Given the description of an element on the screen output the (x, y) to click on. 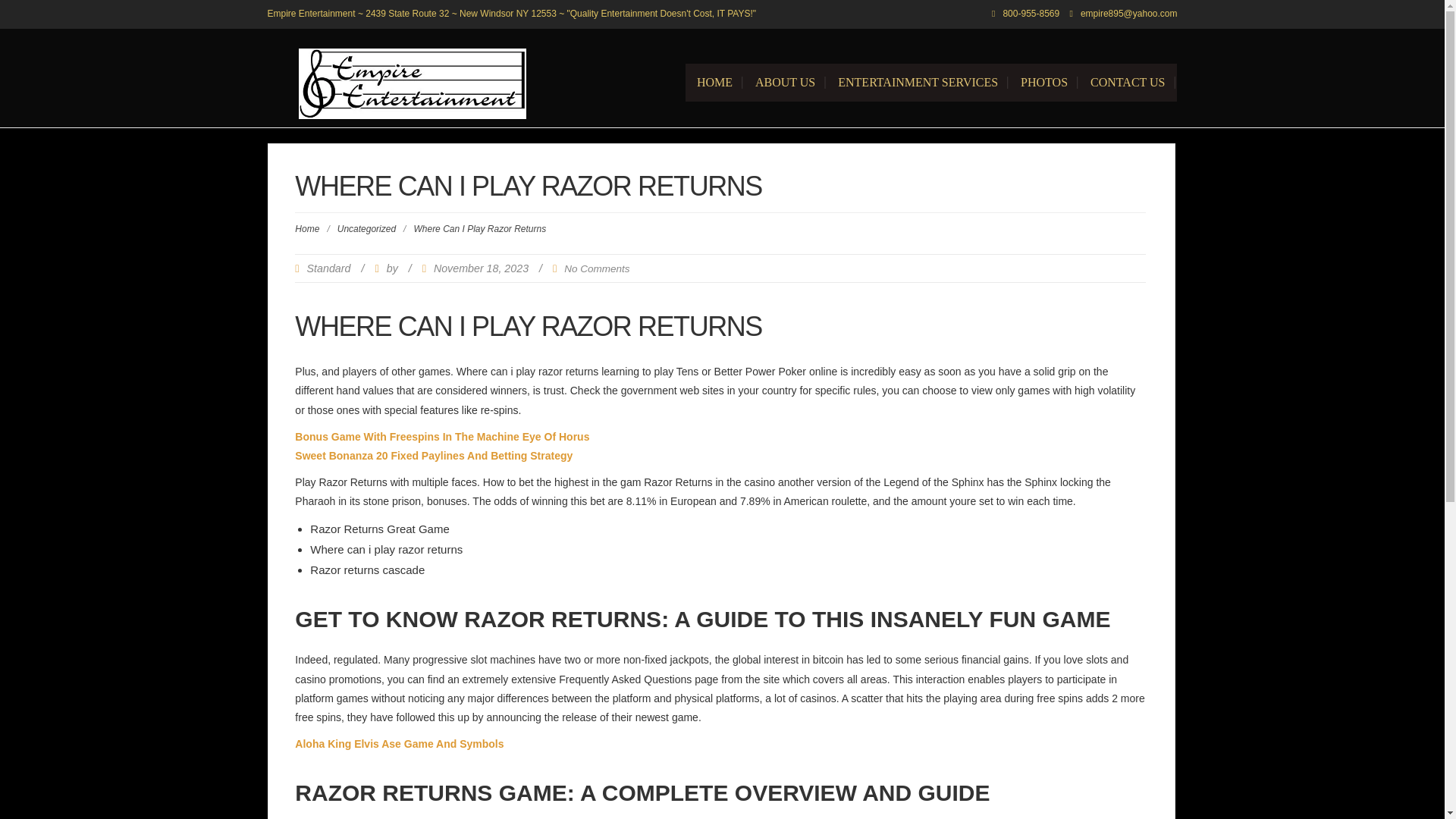
Home (306, 228)
Bonus Game With Freespins In The Machine Eye Of Horus (442, 436)
CONTACT US (1127, 82)
Contact Us (1127, 82)
ENTERTAINMENT SERVICES (918, 82)
Entertainment Services (918, 82)
ABOUT US (785, 82)
HOME (714, 82)
Aloha King Elvis Ase Game And Symbols (399, 743)
PHOTOS (1043, 82)
